Given the description of an element on the screen output the (x, y) to click on. 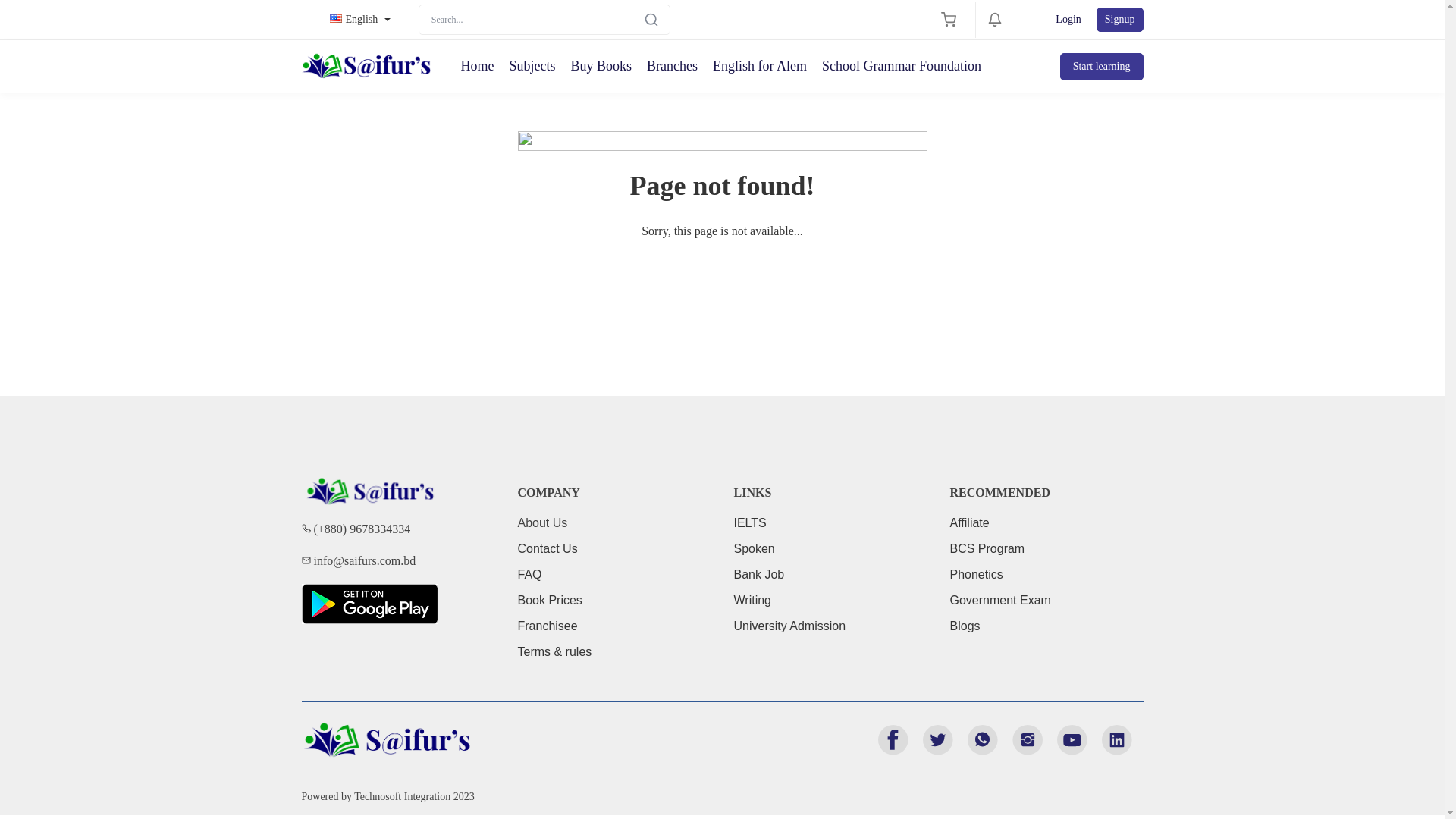
BCS Program Element type: text (986, 547)
Franchisee Element type: text (547, 624)
English Element type: text (359, 19)
Phonetics Element type: text (975, 573)
Signup Element type: text (1119, 19)
Branches Element type: text (672, 66)
Writing Element type: text (752, 599)
Government Exam Element type: text (999, 599)
Spoken Element type: text (754, 547)
Blogs Element type: text (964, 624)
Affiliate Element type: text (968, 521)
About Us Element type: text (542, 521)
Terms & rules Element type: text (554, 650)
Start learning Element type: text (1101, 66)
Login Element type: text (1068, 19)
Bank Job Element type: text (759, 573)
Home Element type: text (477, 66)
School Grammar Foundation Element type: text (901, 66)
IELTS Element type: text (750, 521)
FAQ Element type: text (529, 573)
University Admission Element type: text (790, 624)
Book Prices Element type: text (549, 599)
English for Alem Element type: text (759, 66)
Buy Books Element type: text (600, 66)
Contact Us Element type: text (547, 547)
